Given the description of an element on the screen output the (x, y) to click on. 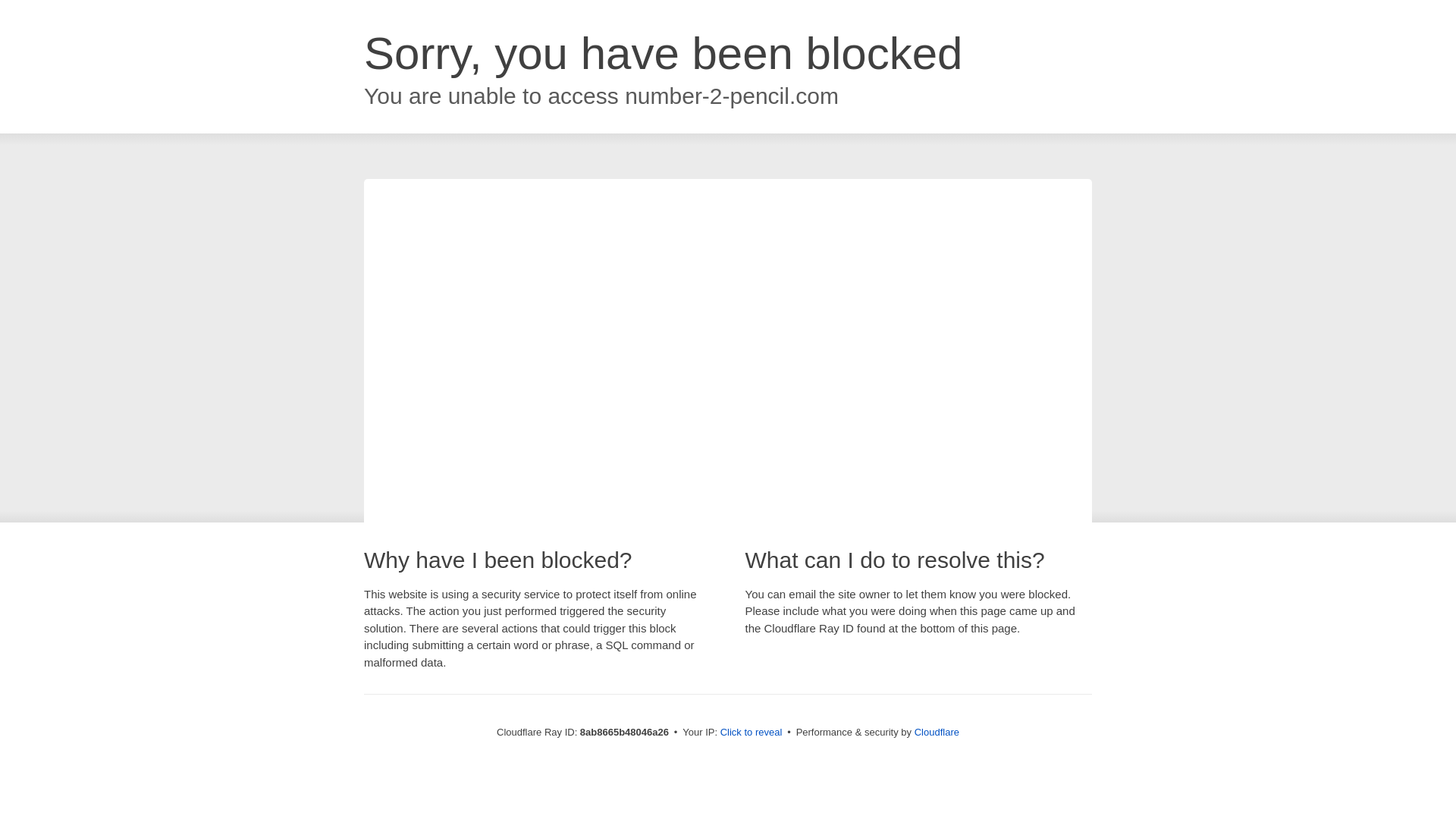
Cloudflare (936, 731)
Click to reveal (751, 732)
